Given the description of an element on the screen output the (x, y) to click on. 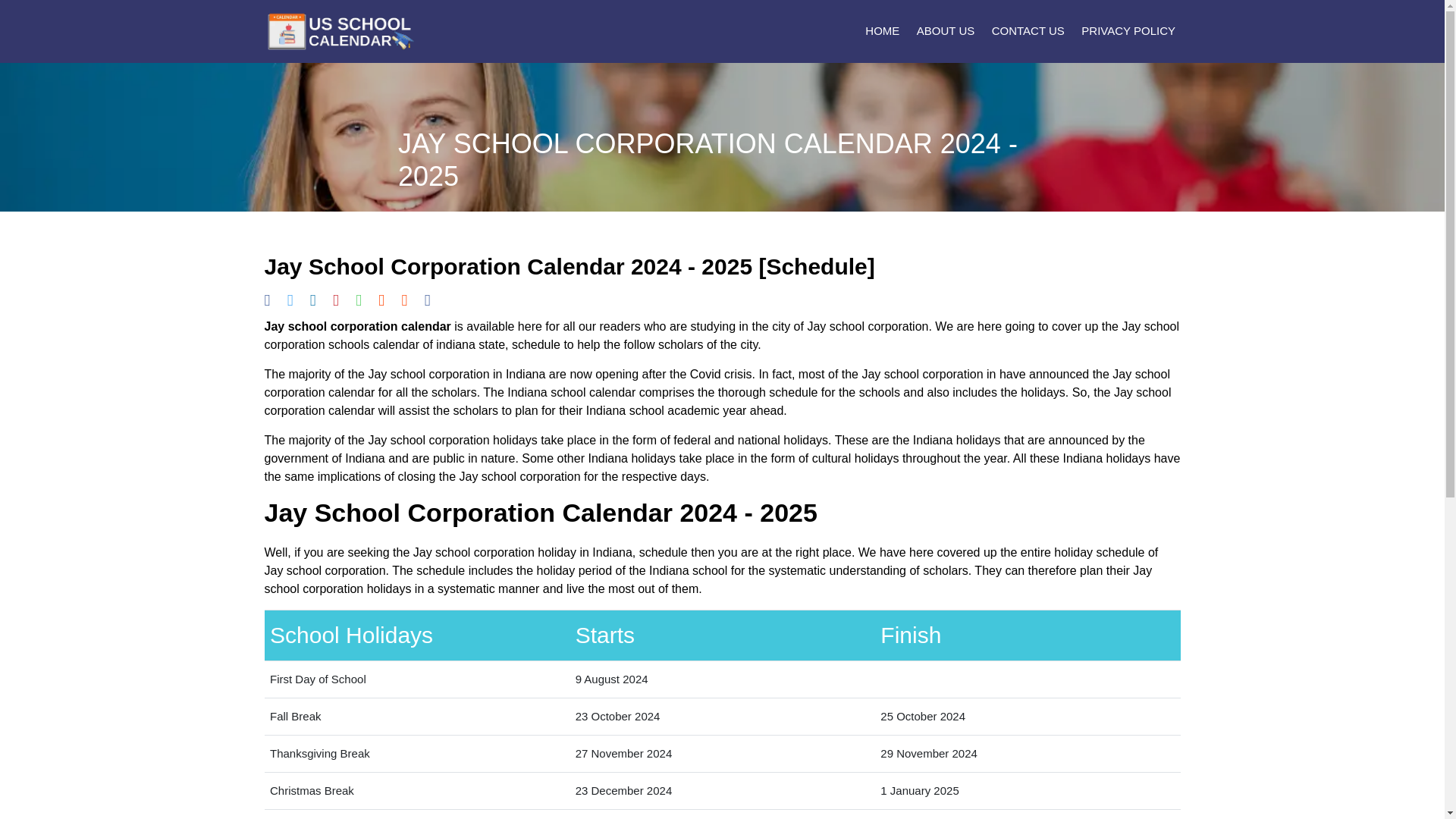
ABOUT US (942, 31)
Share by Email (404, 299)
CONTACT US (1024, 31)
PRIVACY POLICY (1125, 31)
Share by Email (427, 299)
HOME (879, 31)
